Given the description of an element on the screen output the (x, y) to click on. 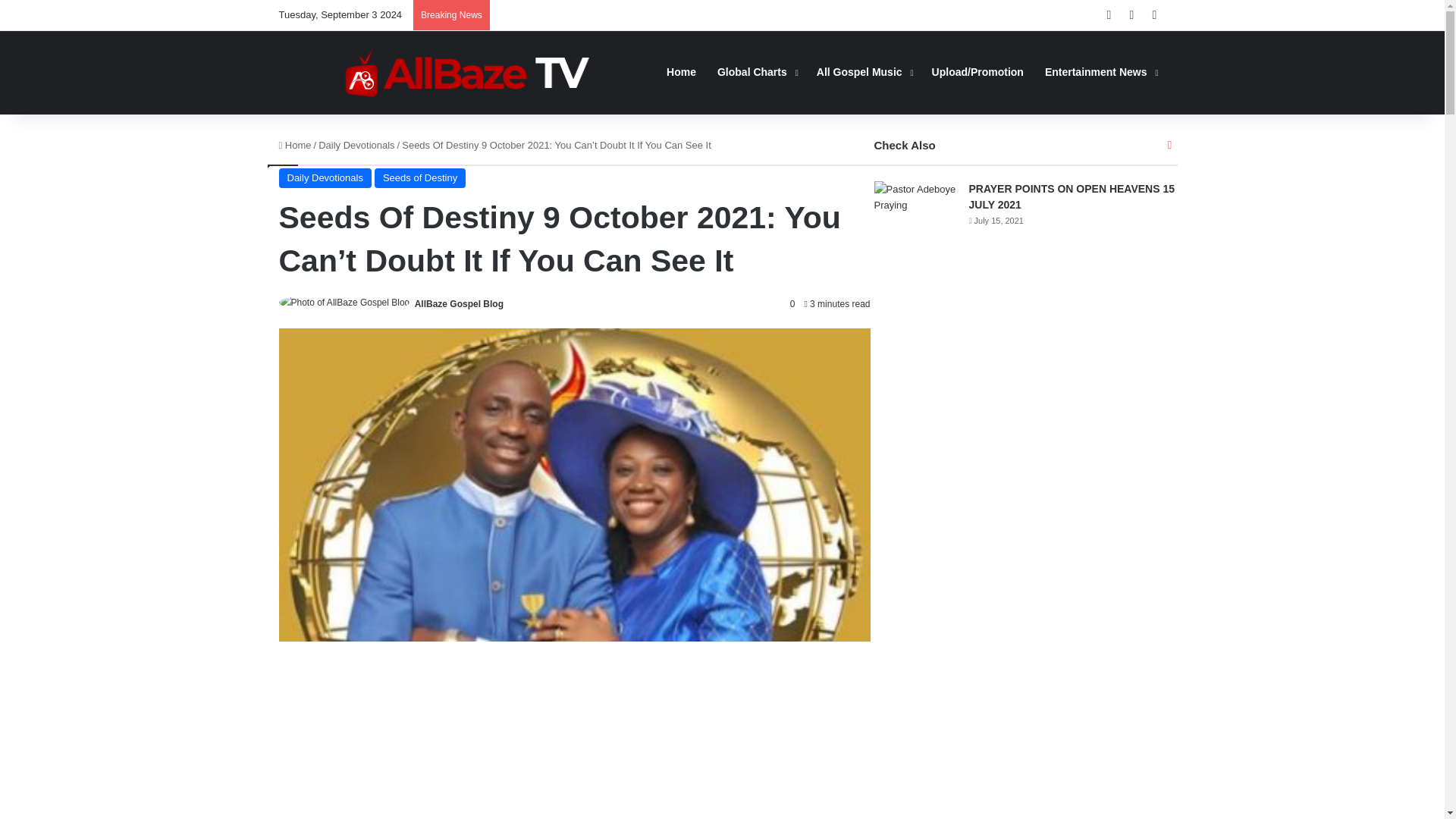
Home (295, 144)
Allbaze.com (467, 72)
Daily Devotionals (356, 144)
Entertainment News (1099, 72)
Global Charts (756, 72)
All Gospel Music (863, 72)
AllBaze Gospel Blog (458, 303)
